Given the description of an element on the screen output the (x, y) to click on. 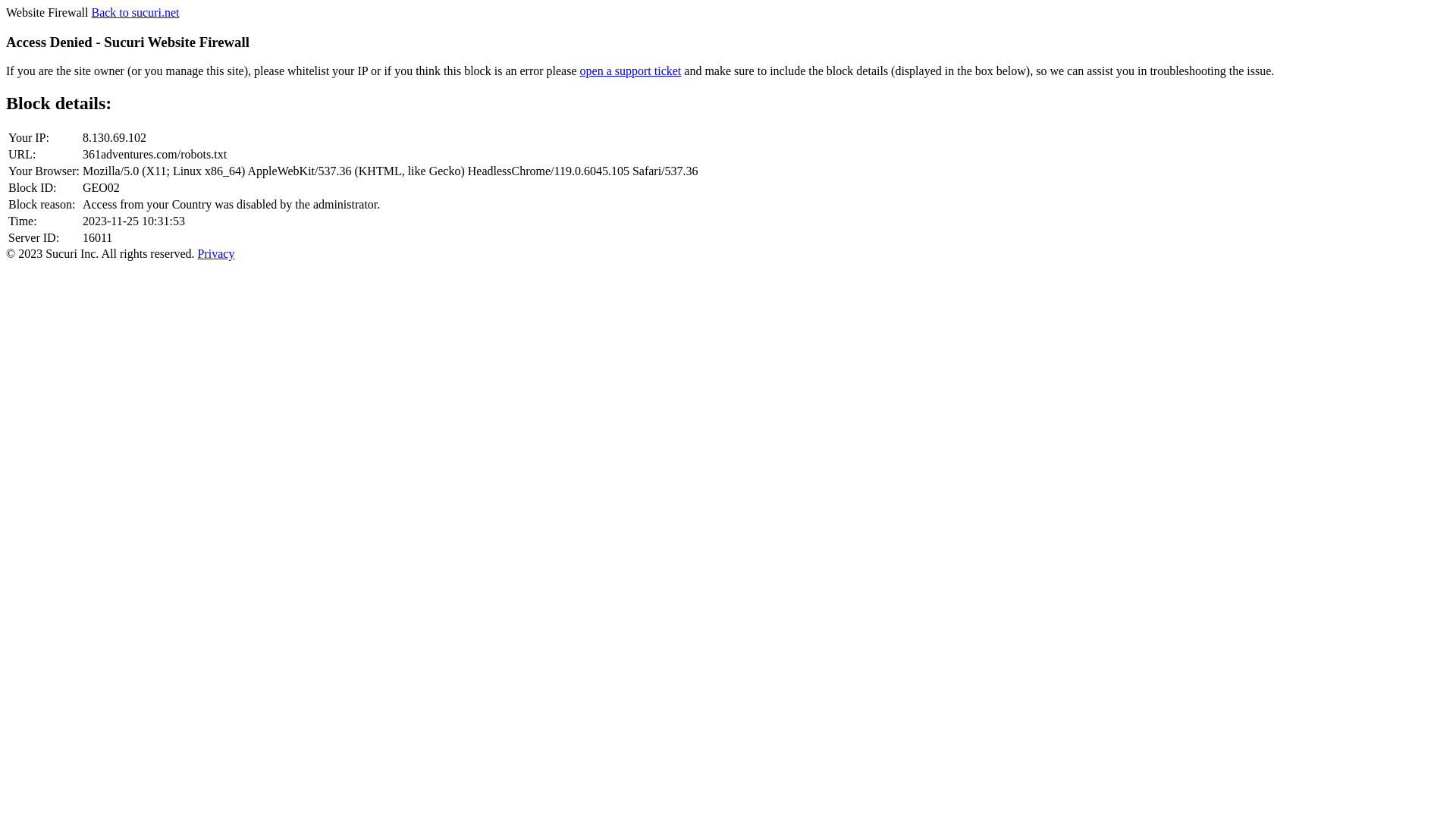
open a support ticket Element type: text (630, 70)
Back to sucuri.net Element type: text (134, 12)
Privacy Element type: text (216, 253)
